Given the description of an element on the screen output the (x, y) to click on. 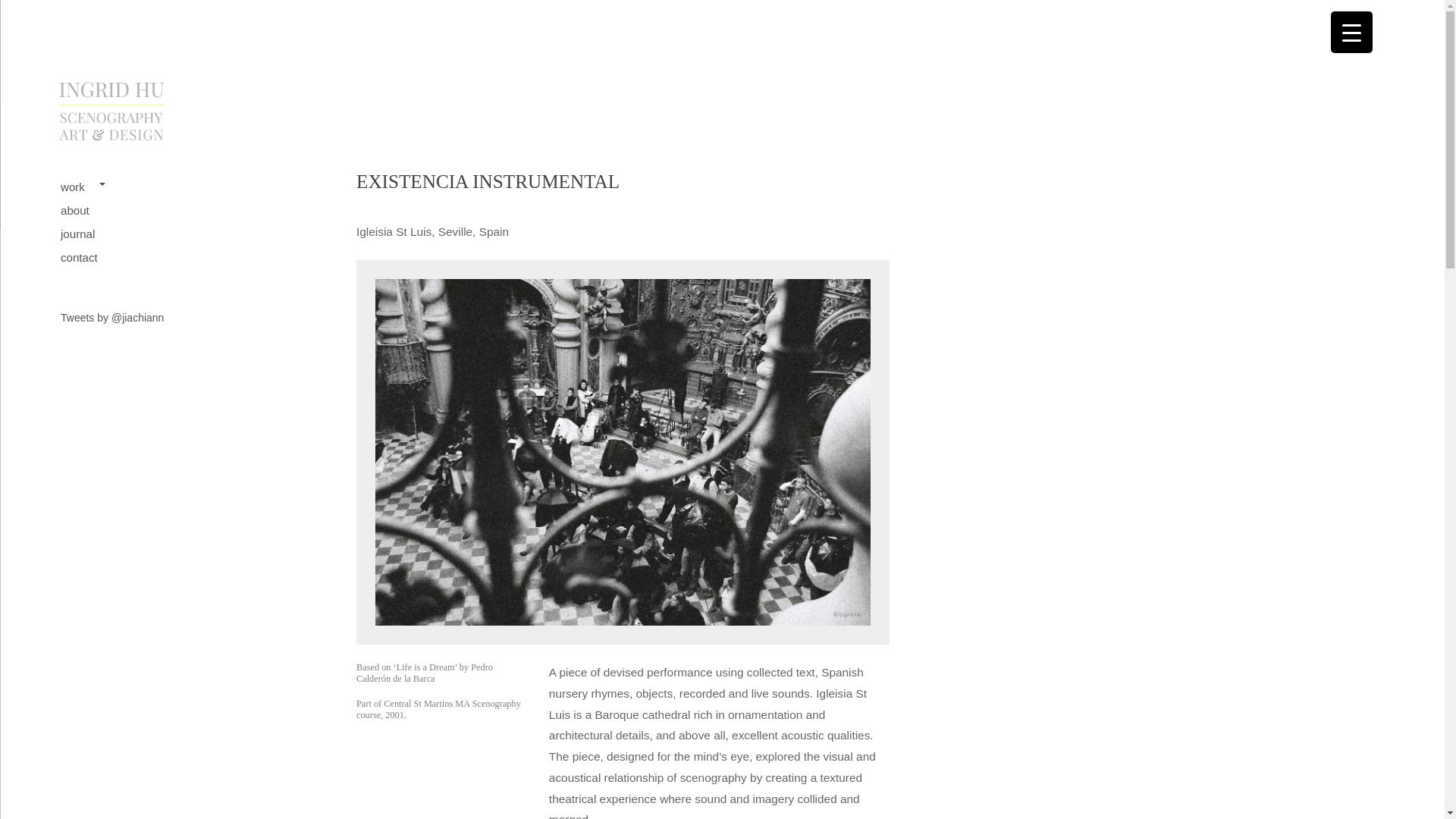
work (87, 187)
Ingrid Hu (162, 142)
INGRID HU (133, 166)
about (87, 210)
journal (87, 234)
Ingrid Hu (133, 166)
contact (87, 258)
